Given the description of an element on the screen output the (x, y) to click on. 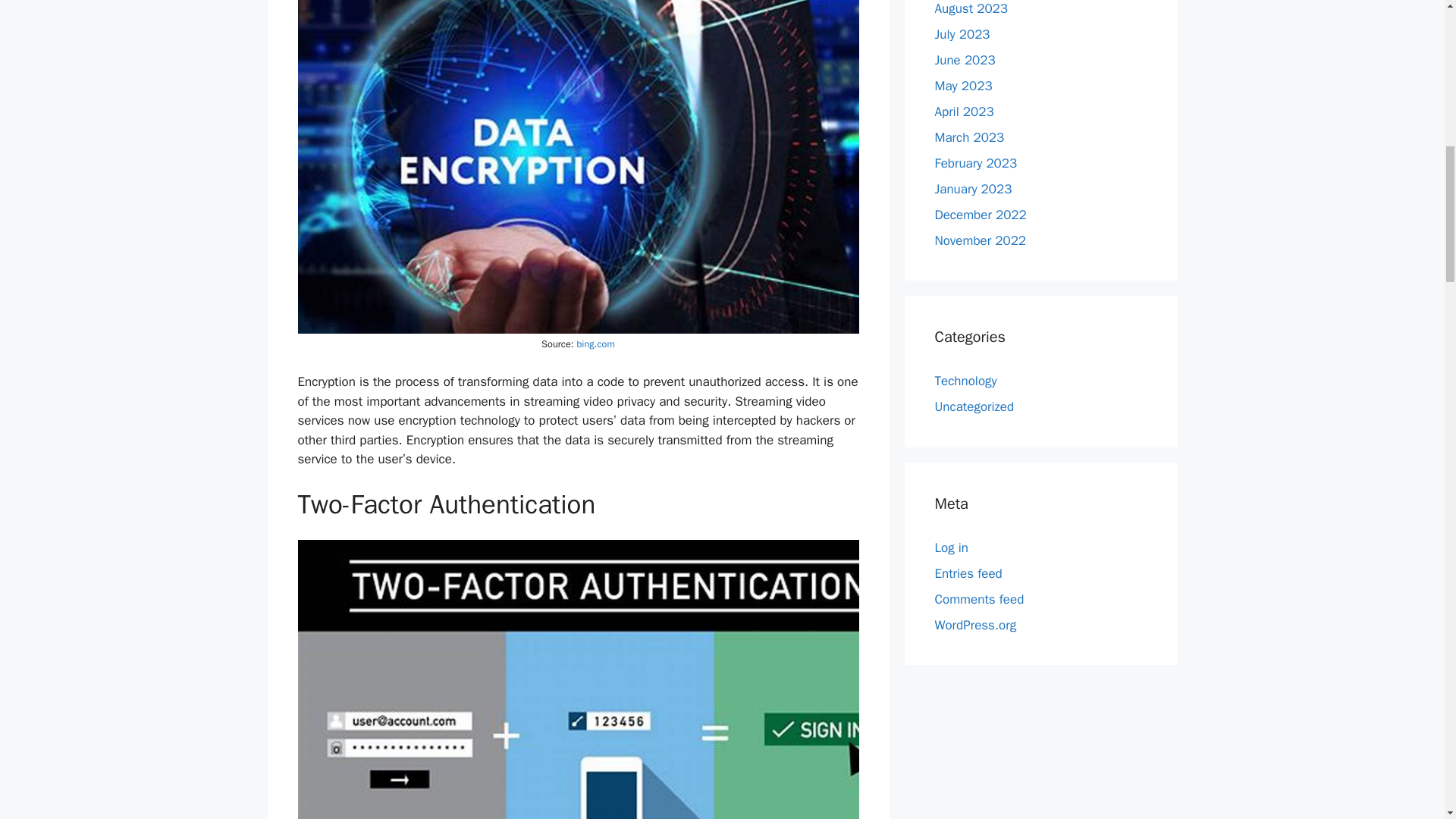
March 2023 (969, 136)
July 2023 (962, 33)
April 2023 (963, 110)
August 2023 (970, 7)
bing.com (595, 344)
June 2023 (964, 59)
May 2023 (962, 84)
